Given the description of an element on the screen output the (x, y) to click on. 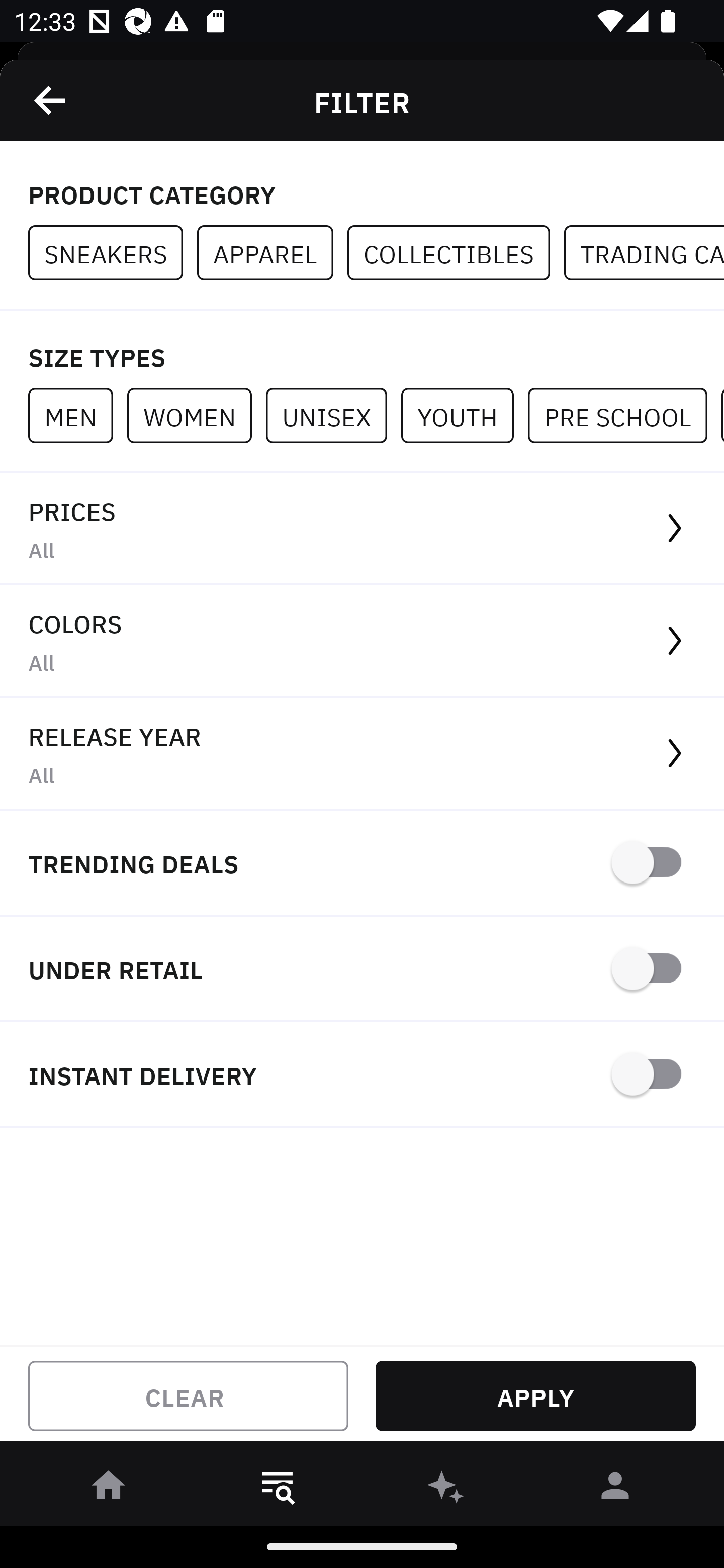
 (50, 100)
SNEAKERS (112, 252)
APPAREL (271, 252)
COLLECTIBLES (455, 252)
TRADING CARDS (643, 252)
MEN (77, 415)
WOMEN (196, 415)
UNISEX (333, 415)
YOUTH (464, 415)
PRE SCHOOL (624, 415)
PRICES All (362, 528)
COLORS All (362, 640)
RELEASE YEAR All (362, 753)
TRENDING DEALS (362, 863)
UNDER RETAIL (362, 969)
INSTANT DELIVERY (362, 1075)
CLEAR  (188, 1396)
APPLY (535, 1396)
󰋜 (108, 1488)
󱎸 (277, 1488)
󰫢 (446, 1488)
󰀄 (615, 1488)
